Given the description of an element on the screen output the (x, y) to click on. 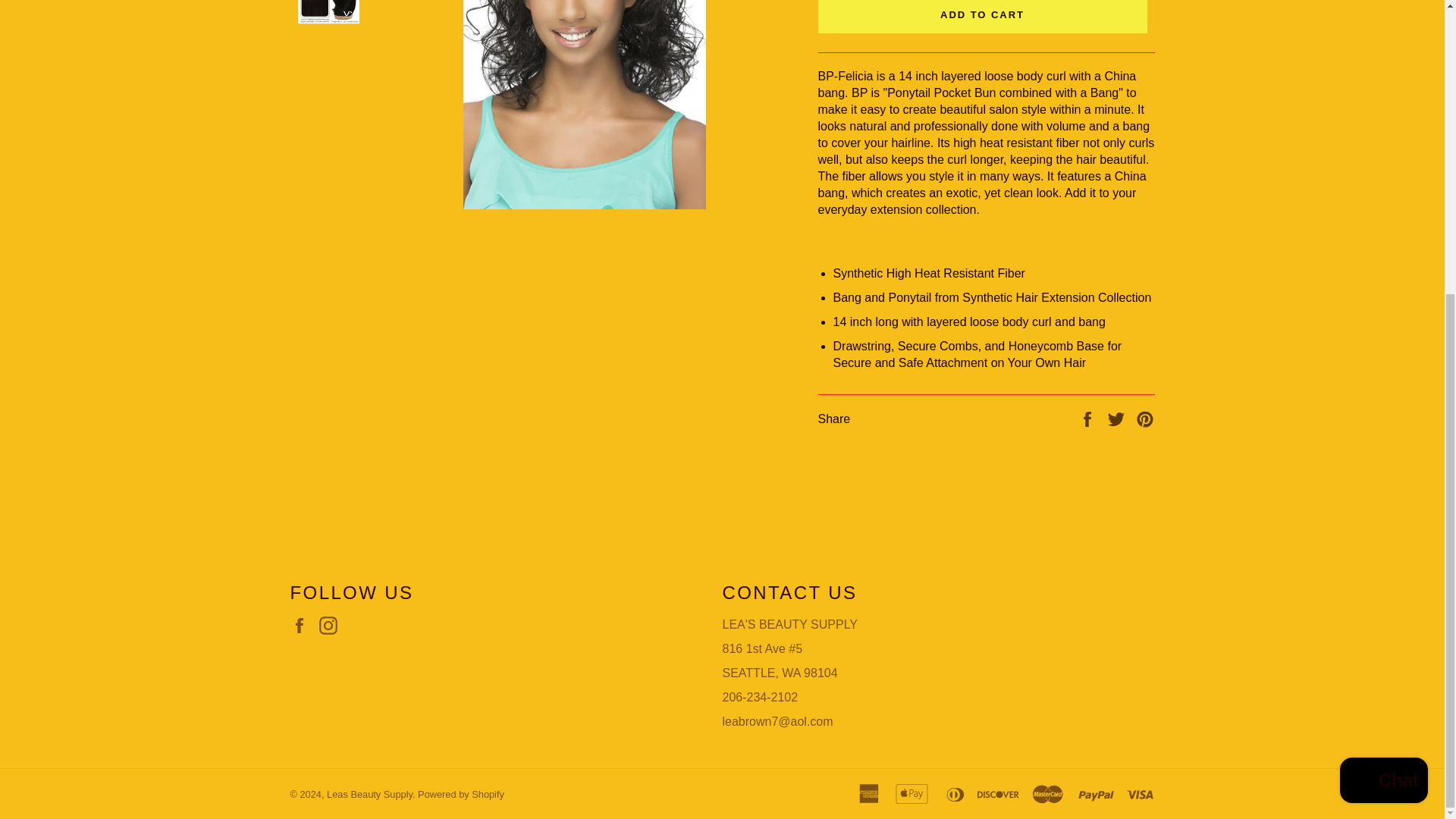
Leas Beauty Supply on Instagram (331, 625)
Shopify online store chat (1383, 330)
Pin on Pinterest (1144, 418)
Leas Beauty Supply on Facebook (302, 625)
Tweet on Twitter (1117, 418)
Share on Facebook (1088, 418)
